Given the description of an element on the screen output the (x, y) to click on. 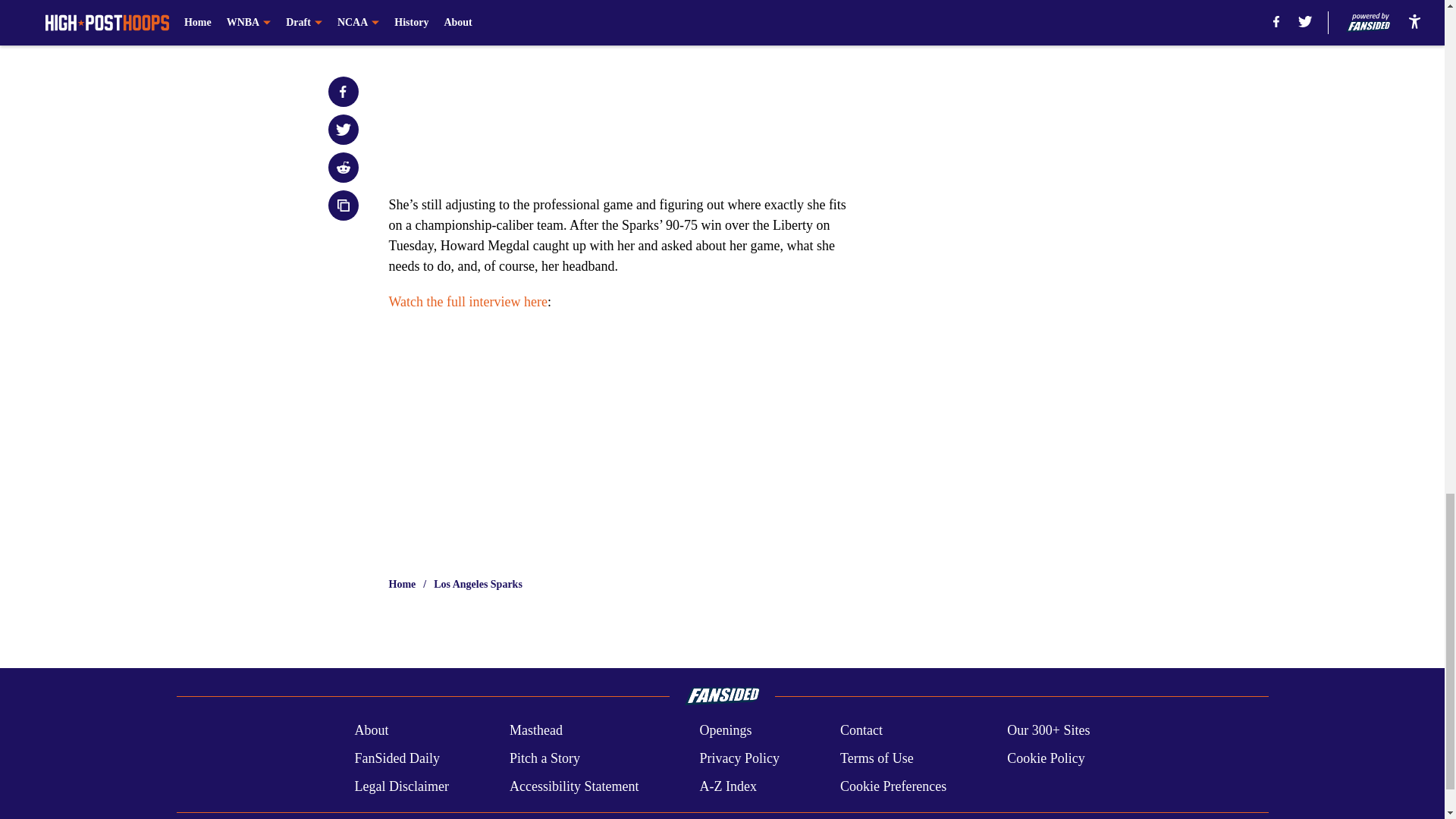
Home (401, 584)
Masthead (535, 730)
About (370, 730)
Watch the full interview here (467, 301)
Los Angeles Sparks (477, 584)
